Given the description of an element on the screen output the (x, y) to click on. 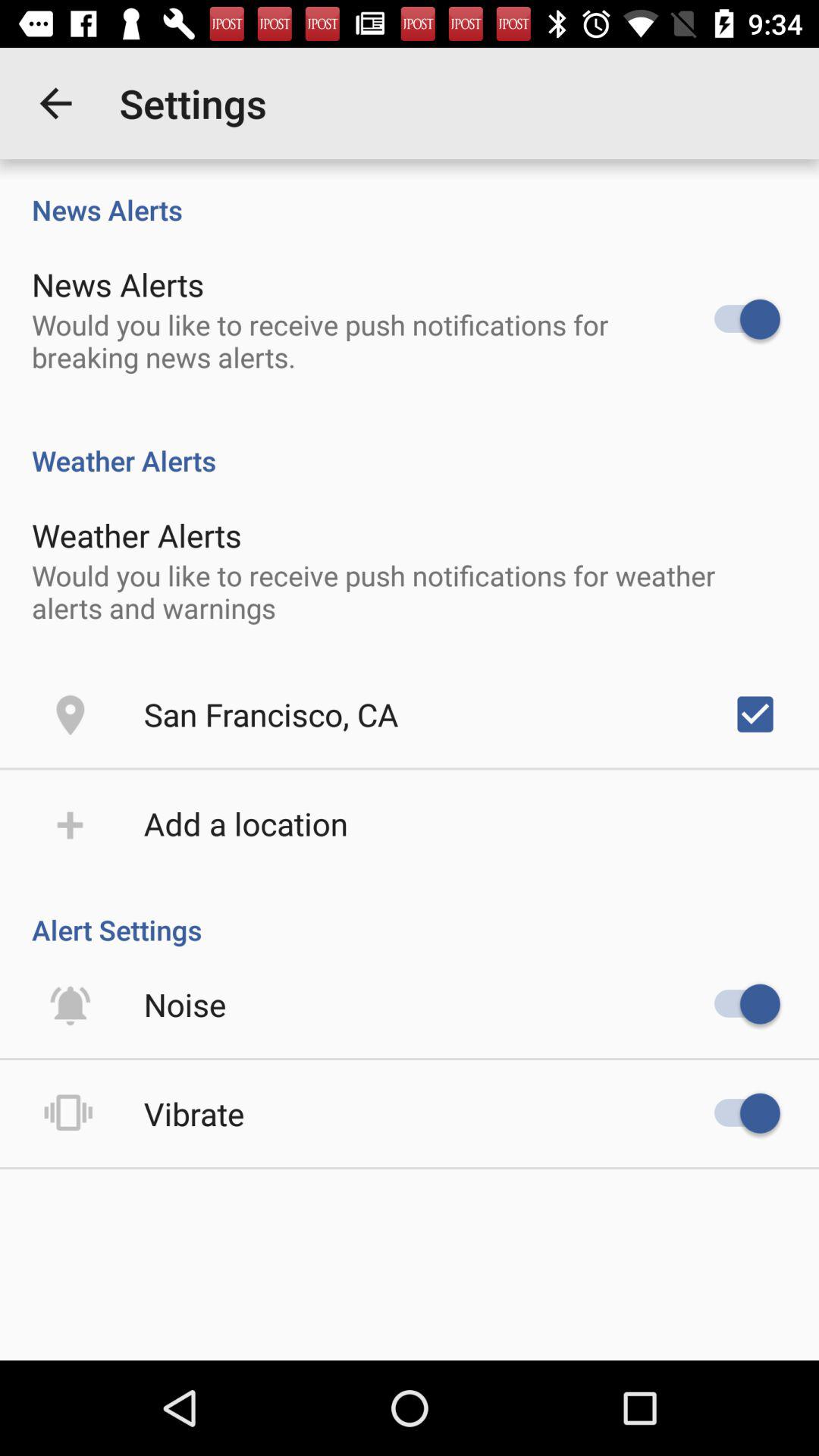
turn on item to the right of the san francisco, ca (755, 714)
